Given the description of an element on the screen output the (x, y) to click on. 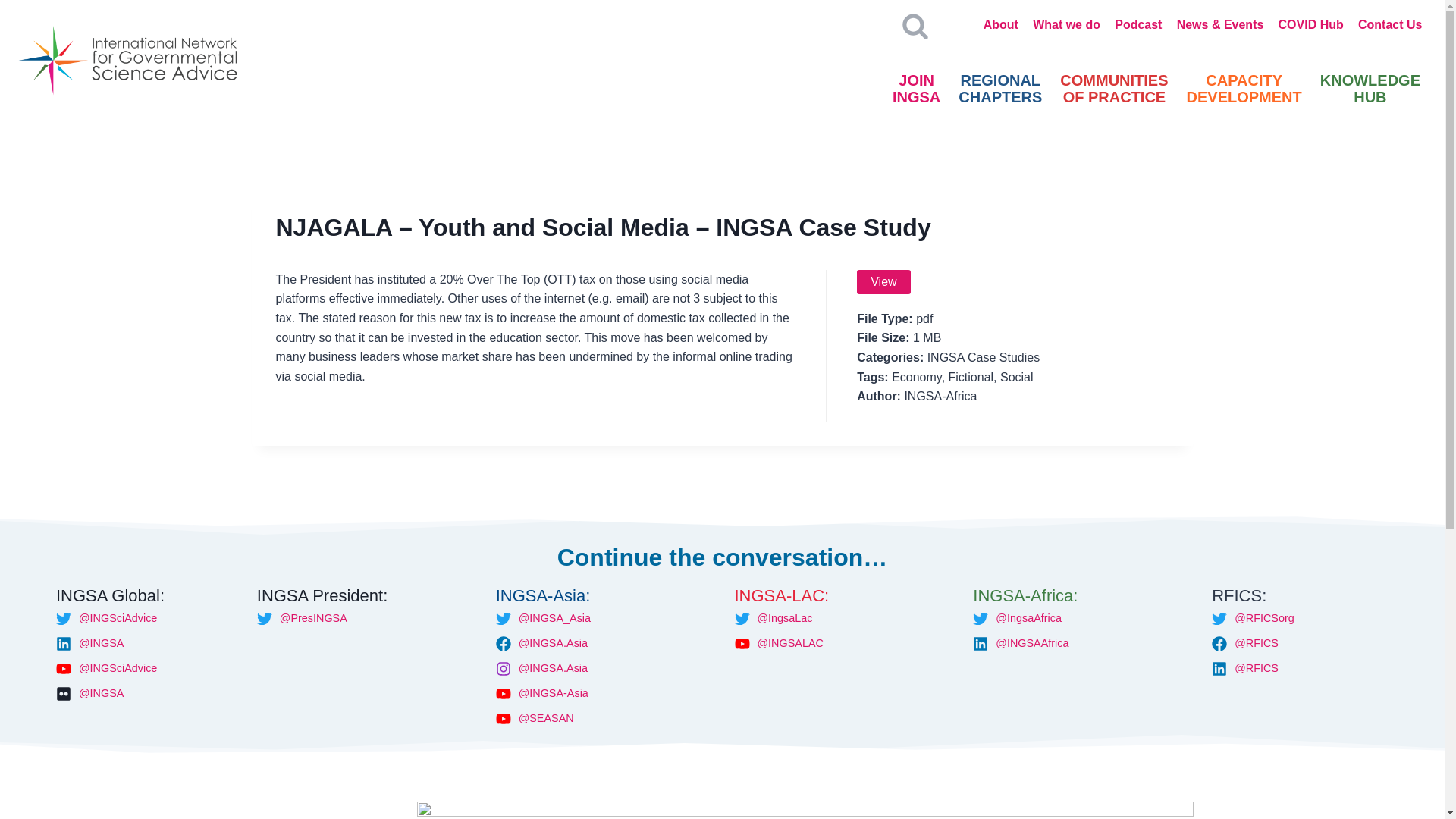
What we do (1067, 24)
COVID Hub (1311, 24)
View (1113, 88)
Contact Us (883, 282)
About (1000, 88)
Podcast (1390, 24)
